Given the description of an element on the screen output the (x, y) to click on. 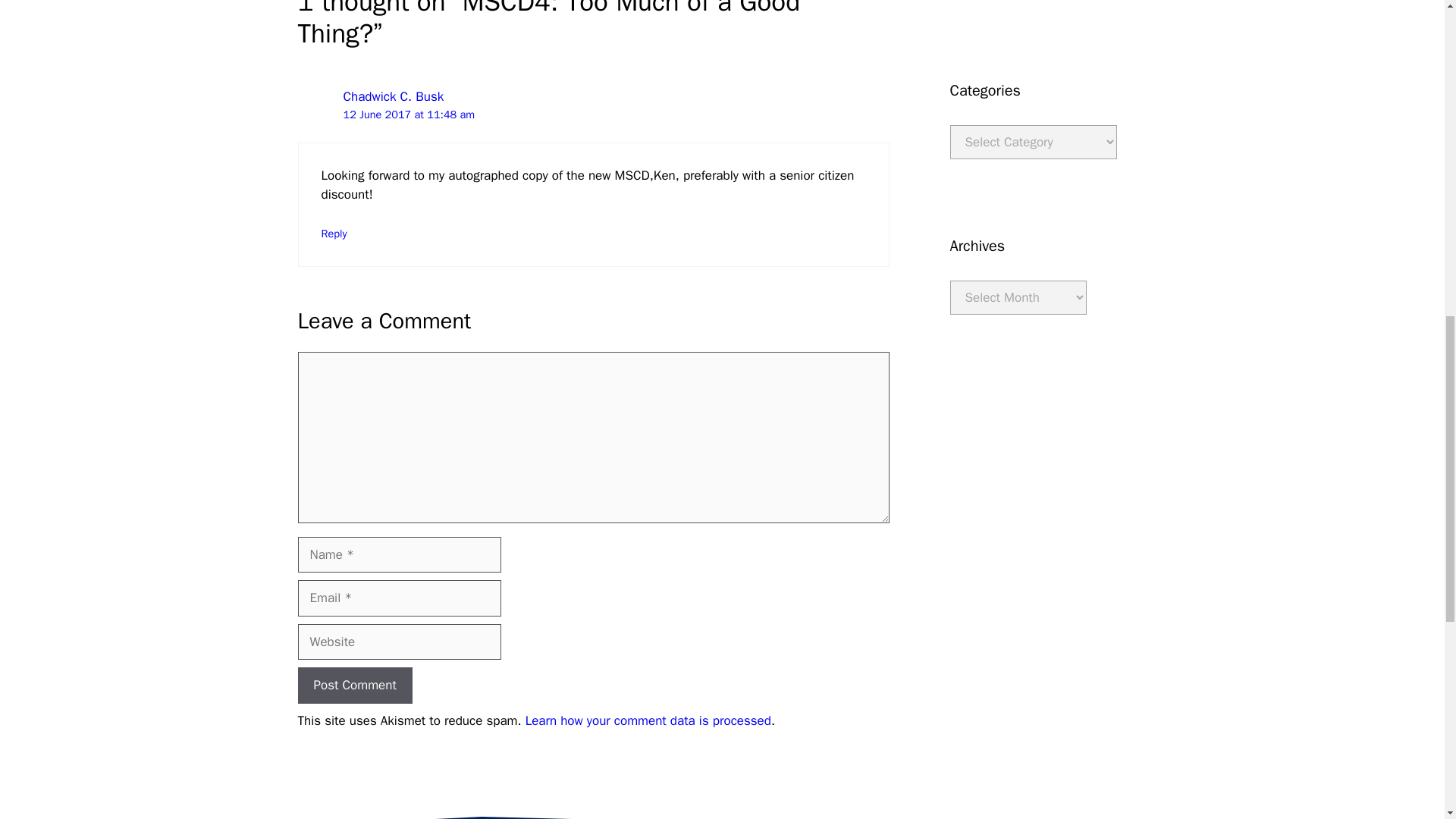
Post Comment (354, 685)
12 June 2017 at 11:48 am (408, 114)
Learn how your comment data is processed (648, 720)
Chadwick C. Busk (393, 96)
Reply (334, 233)
Post Comment (354, 685)
